Given the description of an element on the screen output the (x, y) to click on. 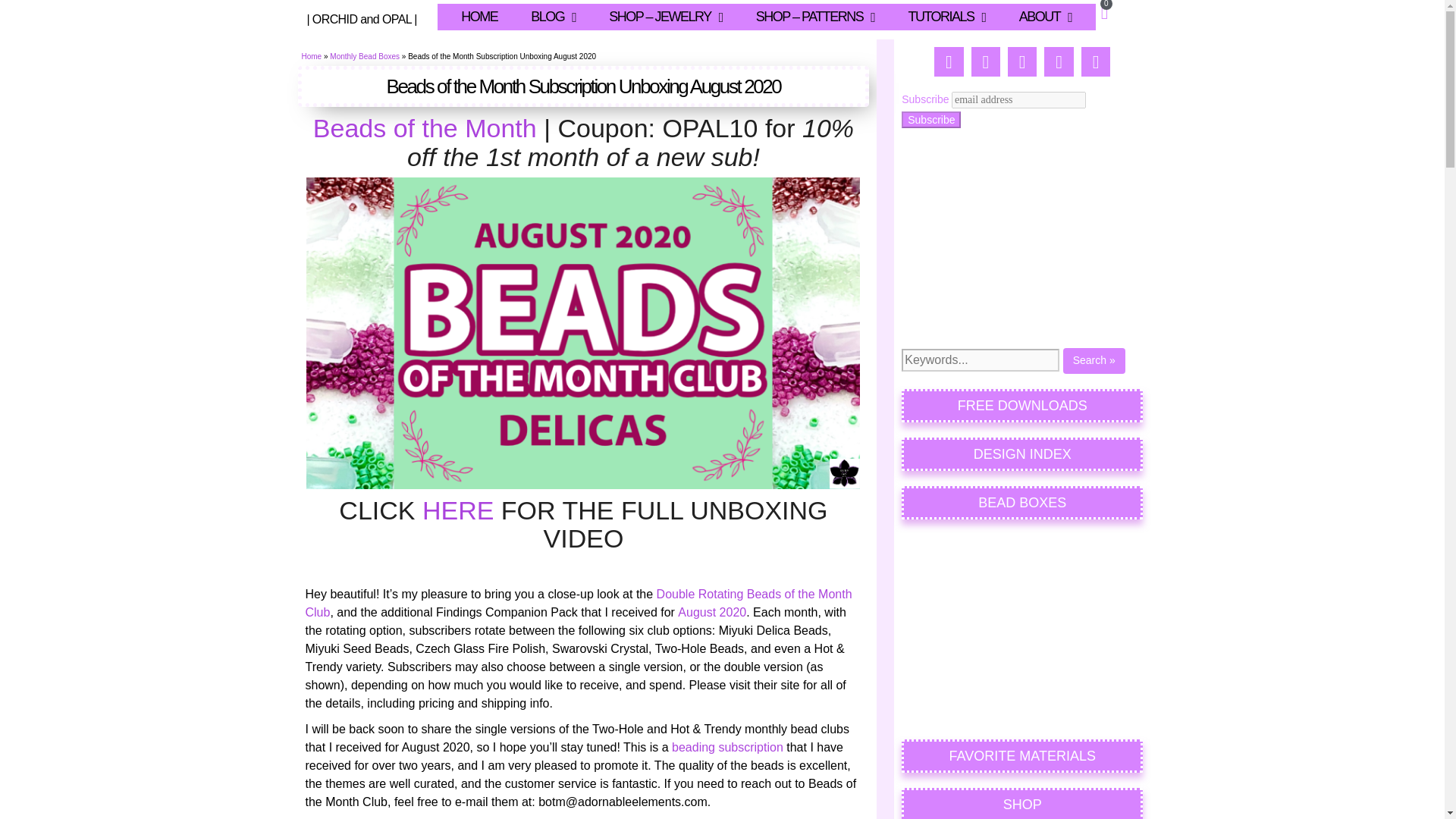
HOME (479, 17)
ABOUT (1045, 17)
Advertisement (1021, 628)
Advertisement (1021, 237)
TUTORIALS (946, 17)
BLOG (553, 17)
Subscribe (930, 119)
